Given the description of an element on the screen output the (x, y) to click on. 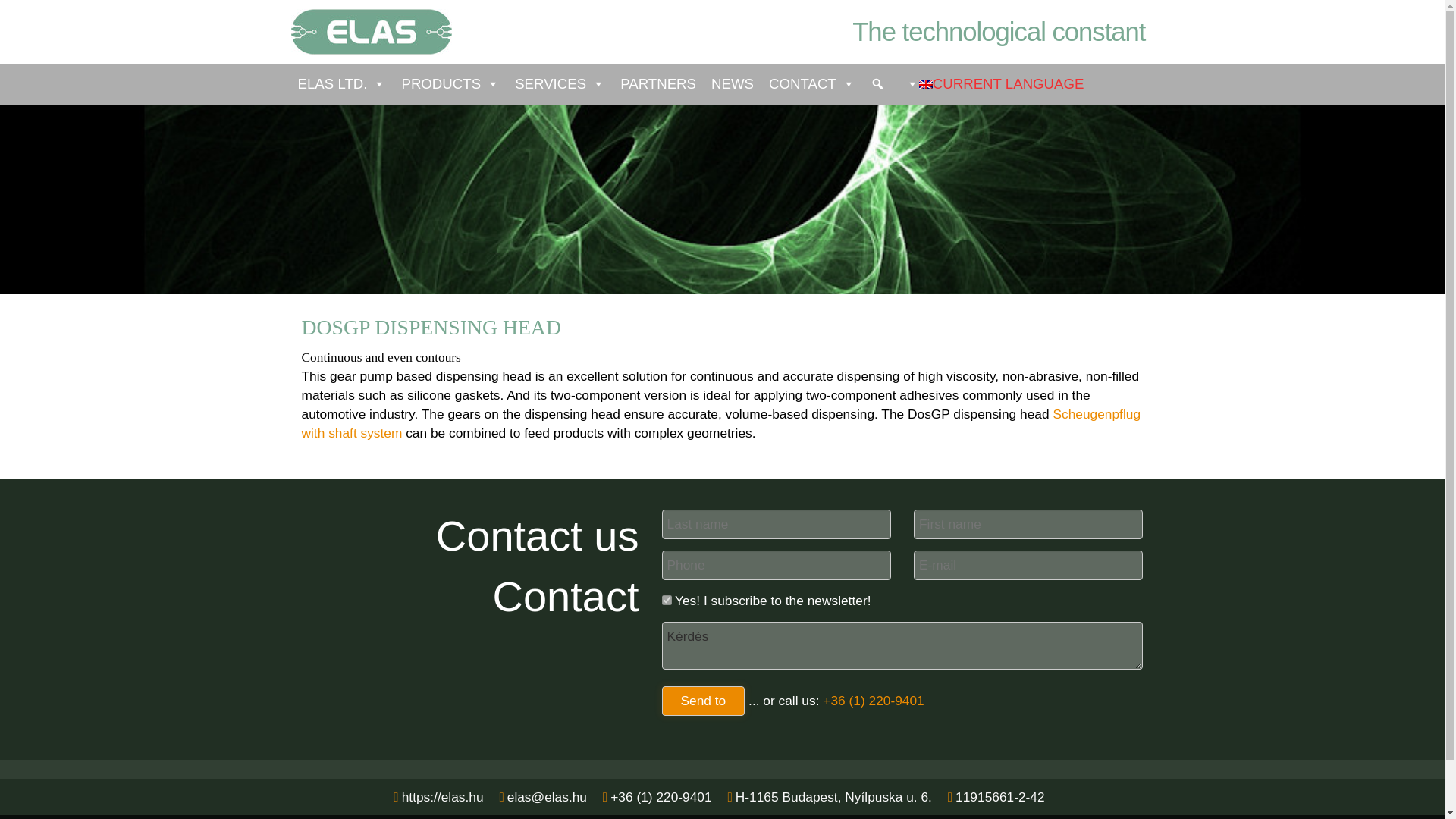
0 (666, 600)
Current Language (925, 84)
PRODUCTS (449, 83)
ELAS LTD. (341, 83)
Send to (702, 700)
